Given the description of an element on the screen output the (x, y) to click on. 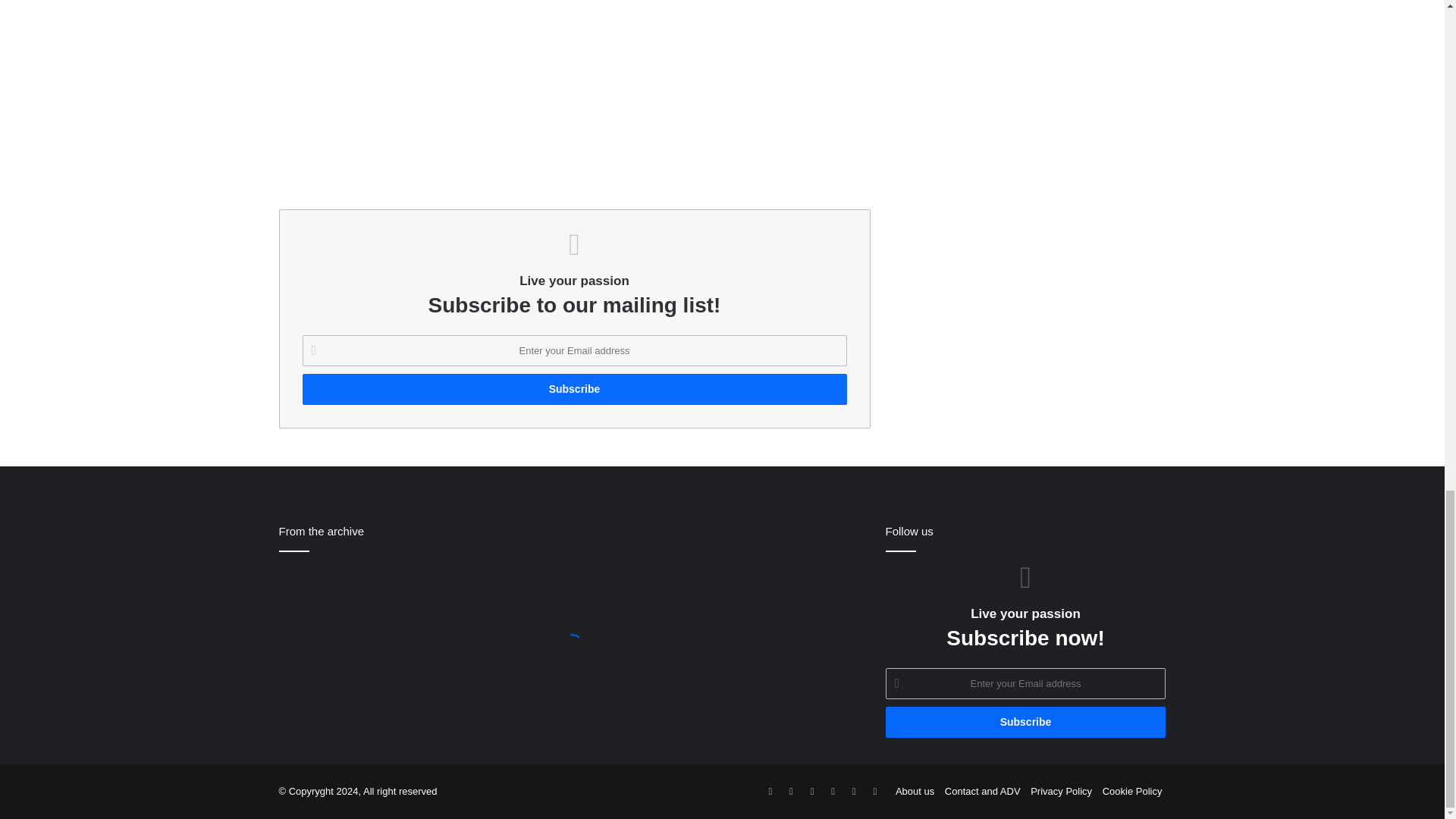
Subscribe (573, 388)
Subscribe (1025, 721)
